Given the description of an element on the screen output the (x, y) to click on. 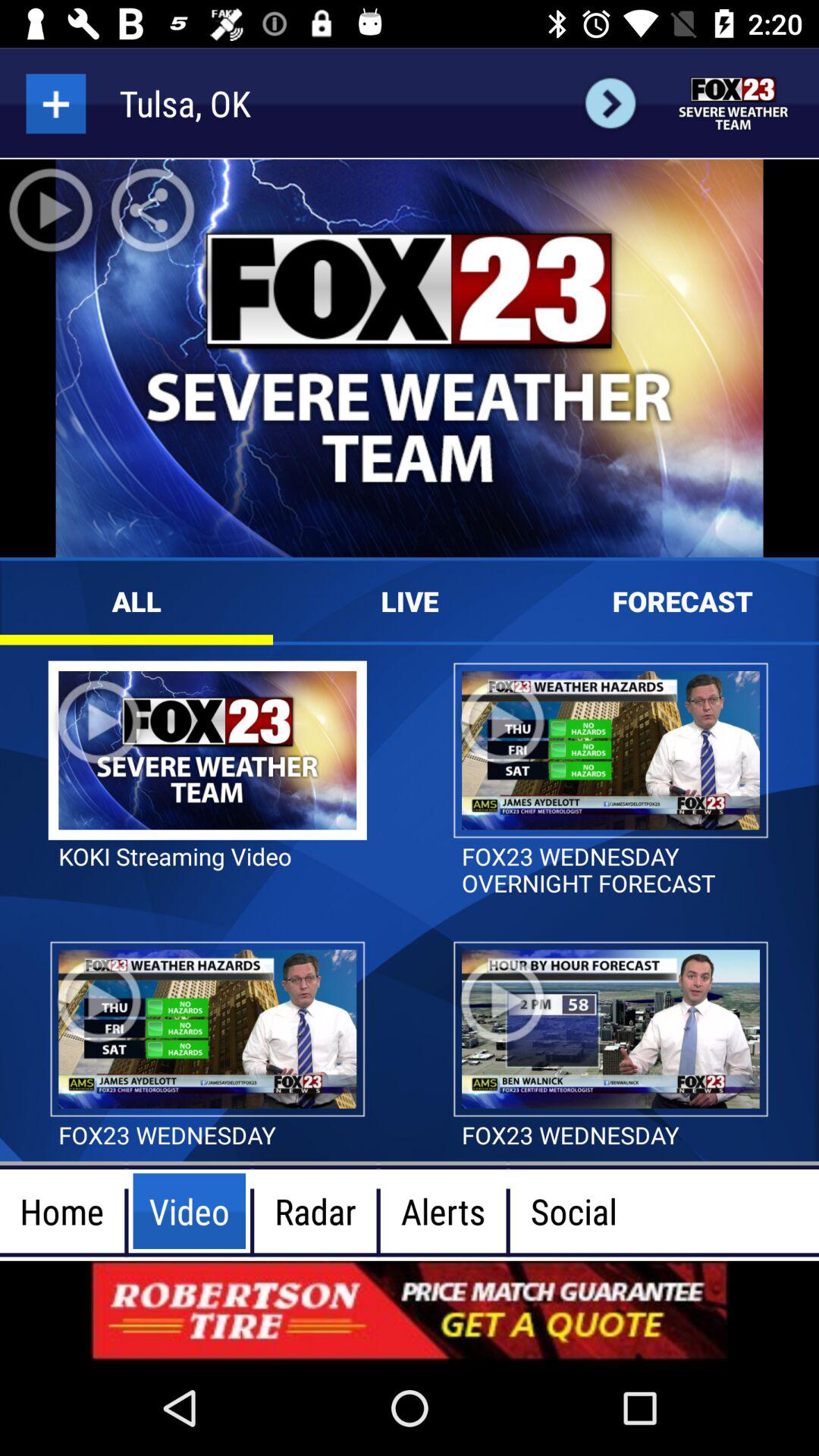
advertisement display (409, 1310)
